Given the description of an element on the screen output the (x, y) to click on. 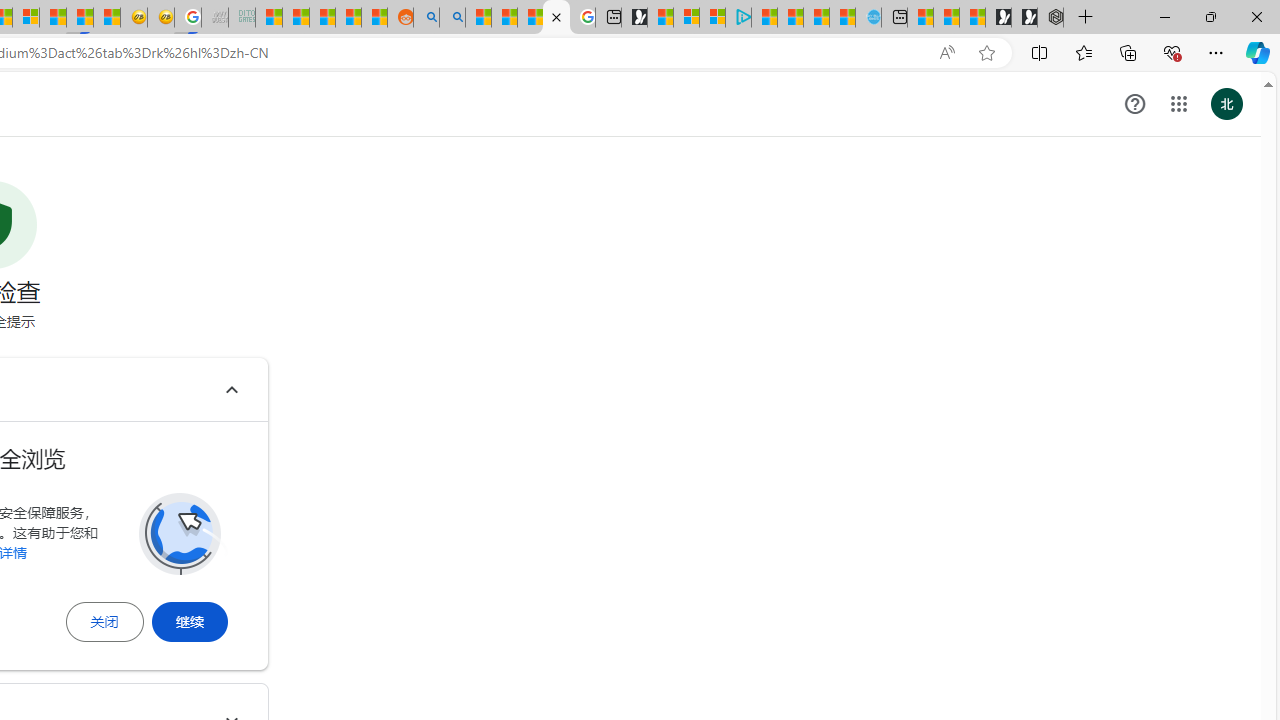
Class: gb_E (1178, 103)
